Given the description of an element on the screen output the (x, y) to click on. 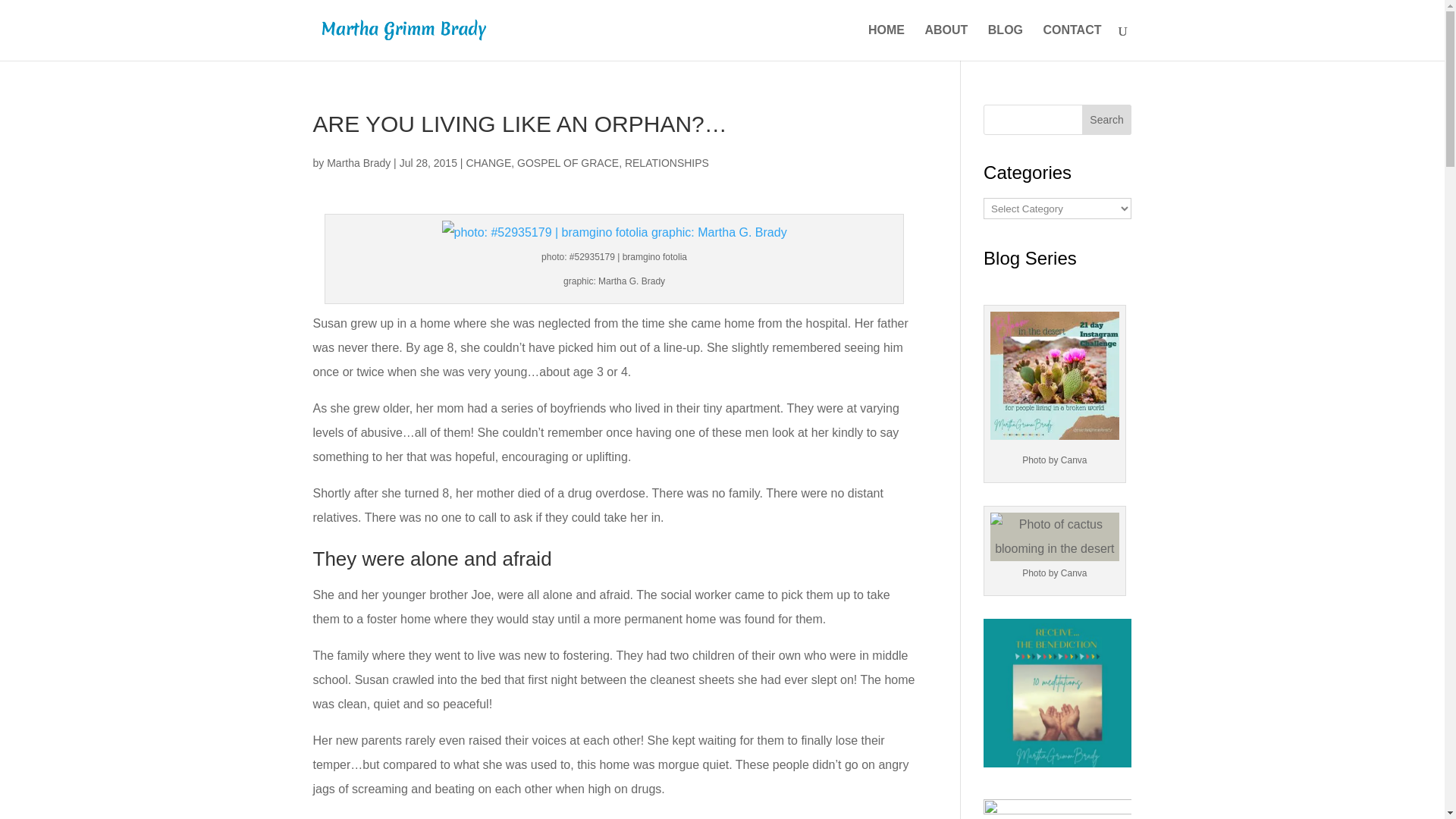
ABOUT (946, 42)
HOME (885, 42)
BLOG (1005, 42)
Martha Brady (358, 162)
CONTACT (1071, 42)
RELATIONSHIPS (666, 162)
CHANGE (488, 162)
GOSPEL OF GRACE (567, 162)
Search (1106, 119)
Search (1106, 119)
Posts by Martha Brady (358, 162)
